Given the description of an element on the screen output the (x, y) to click on. 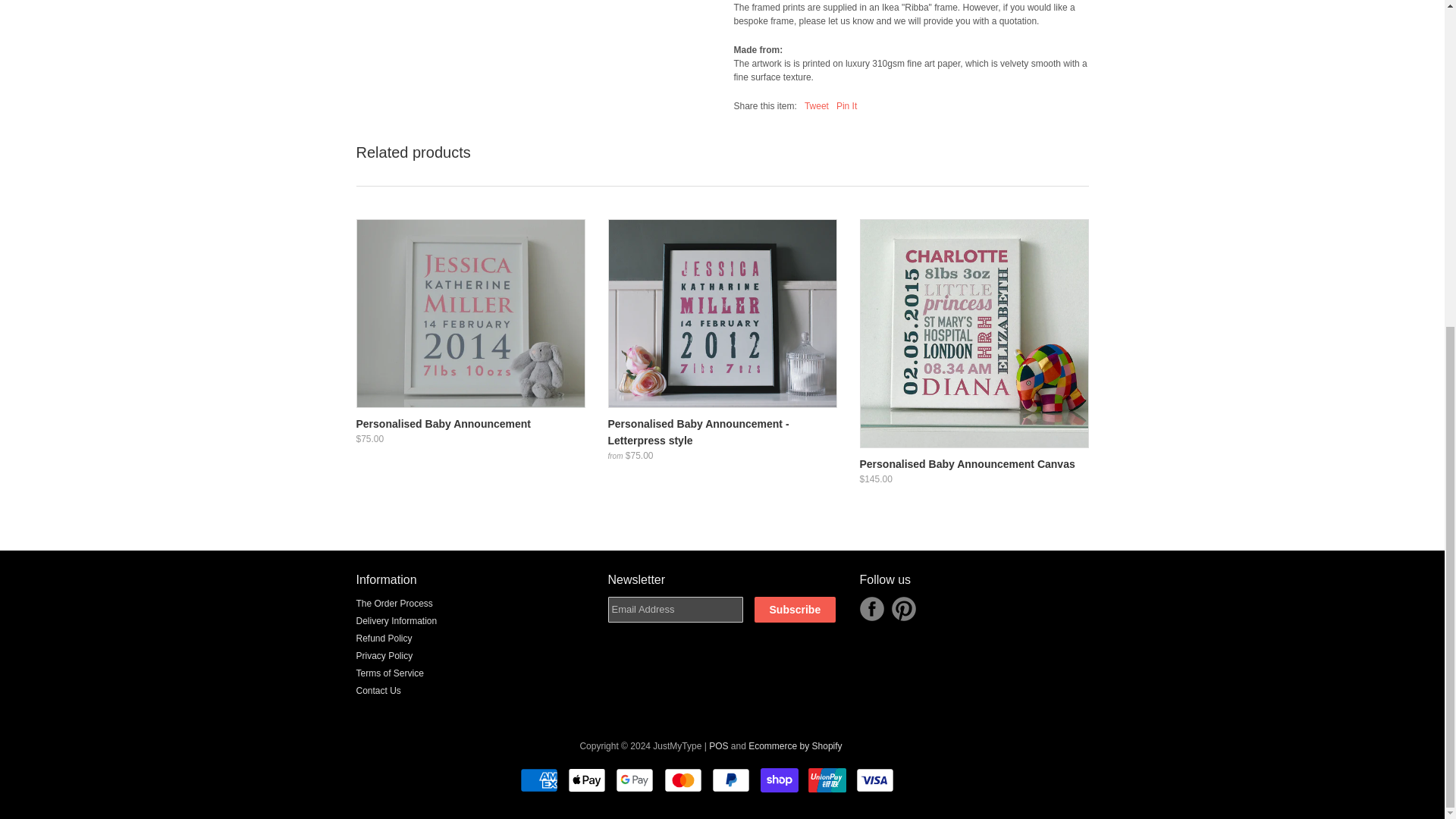
Subscribe (794, 609)
Refund Policy (384, 638)
Refund Policy (384, 638)
Delivery Information (397, 620)
Contact Us (378, 690)
JustMyType on Facebook (871, 608)
The Order Process (394, 603)
JustMyType on Pinterest (903, 608)
Tweet (816, 105)
The Order Process (394, 603)
Pin It (846, 105)
Privacy Policy (384, 655)
Delivery Information (397, 620)
Terms of Service (389, 673)
